Given the description of an element on the screen output the (x, y) to click on. 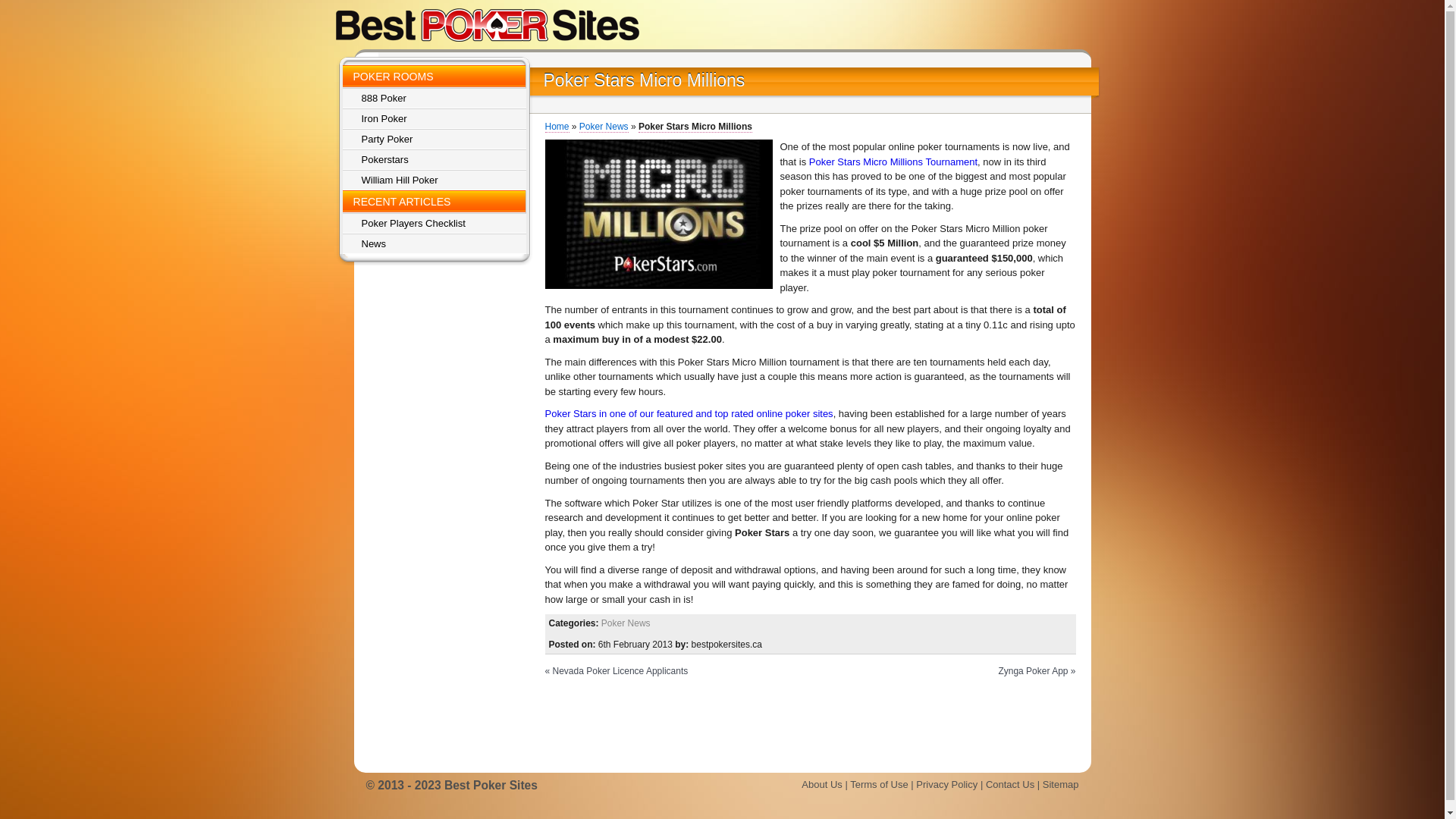
888 Poker Element type: text (434, 97)
Privacy Policy Element type: text (946, 784)
Party Poker Element type: text (434, 138)
Iron Poker Element type: text (434, 118)
William Hill Poker Element type: text (434, 179)
Zynga Poker App Element type: text (1032, 670)
Nevada Poker Licence Applicants Element type: text (620, 670)
Poker News Element type: text (603, 126)
Terms of Use Element type: text (879, 784)
About Us Element type: text (821, 784)
Poker News Element type: text (625, 623)
Pokerstars Element type: text (434, 159)
Sitemap Element type: text (1060, 784)
News Element type: text (434, 243)
Home Element type: text (556, 126)
Poker Players Checklist Element type: text (434, 222)
Poker Stars Micro Millions Tournament Element type: text (893, 161)
Contact Us Element type: text (1009, 784)
